Given the description of an element on the screen output the (x, y) to click on. 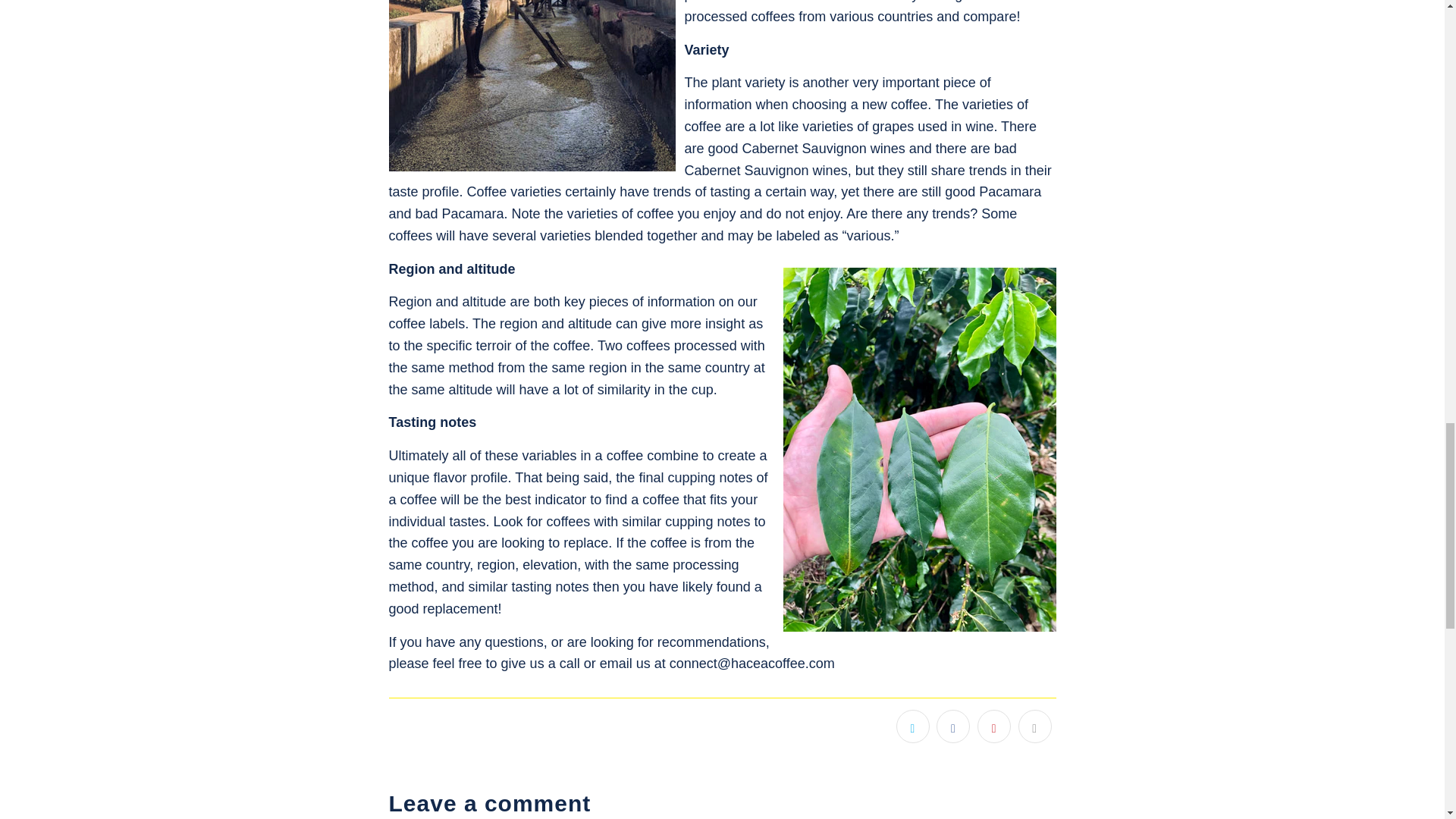
Share this on Facebook (952, 726)
Share this on Twitter (913, 726)
Email this to a friend (1034, 726)
Share this on Pinterest (993, 726)
